Given the description of an element on the screen output the (x, y) to click on. 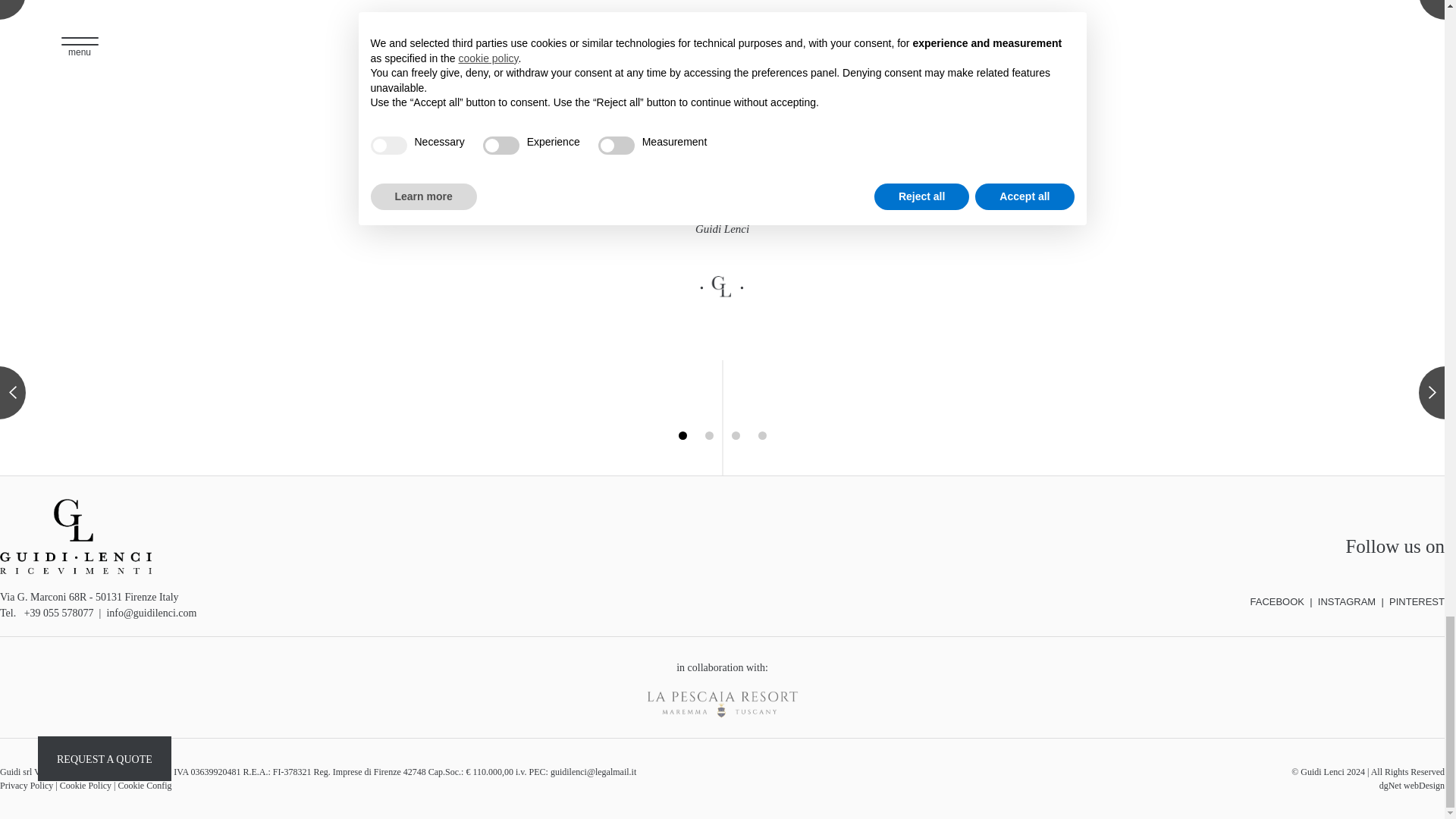
Cookie Policy  (85, 785)
Privacy Policy  (26, 785)
